Given the description of an element on the screen output the (x, y) to click on. 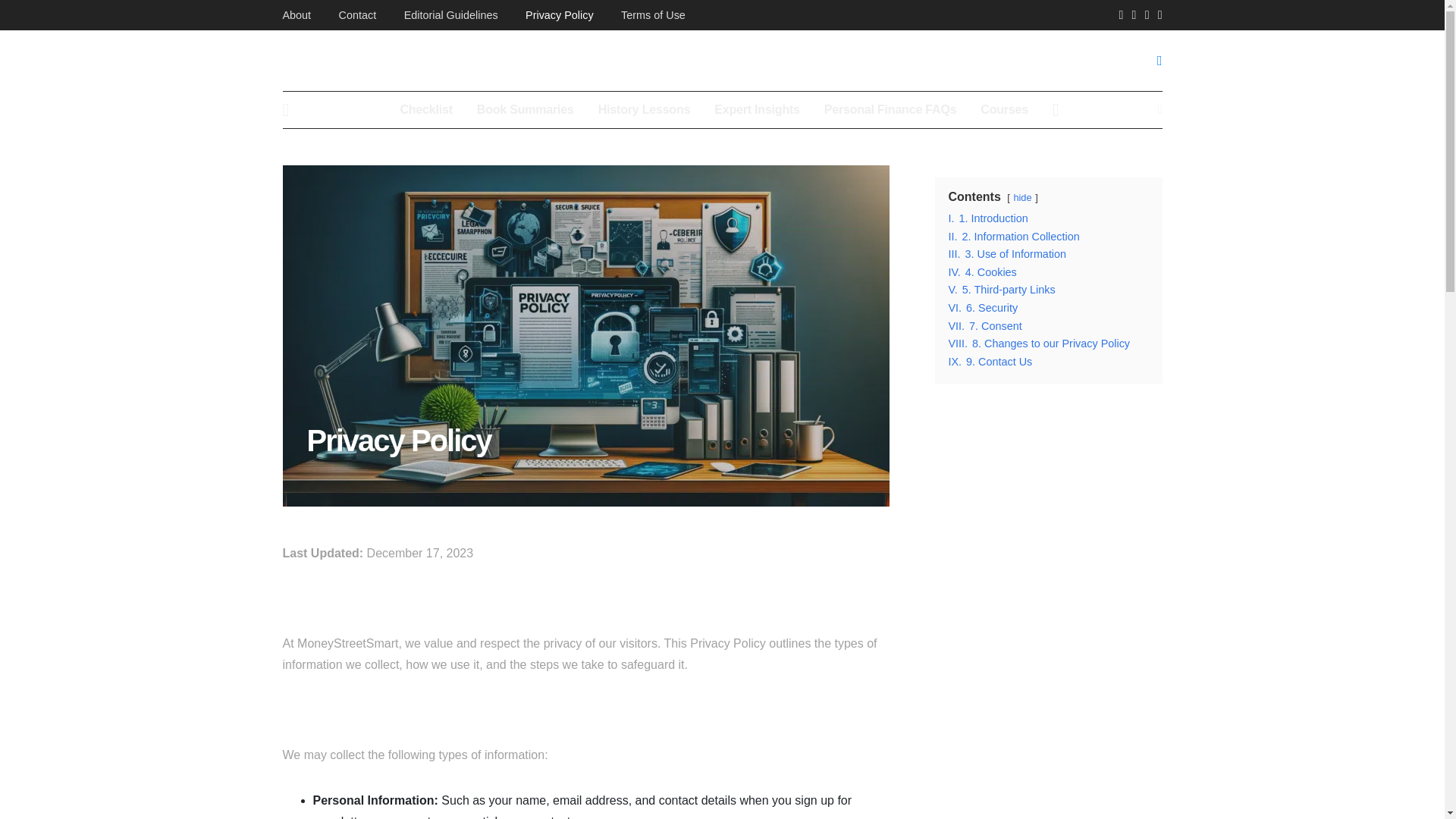
Privacy Policy (559, 15)
Checklist (424, 109)
Expert Insights (756, 109)
About (296, 15)
Terms of Use (653, 15)
hide (1021, 197)
Editorial Guidelines (450, 15)
IV. 4. Cookies (981, 272)
Courses (1003, 109)
Personal Finance FAQs (890, 109)
II. 2. Information Collection (1012, 236)
Contact (358, 15)
History Lessons (644, 109)
I. 1. Introduction (987, 218)
III. 3. Use of Information (1006, 254)
